Given the description of an element on the screen output the (x, y) to click on. 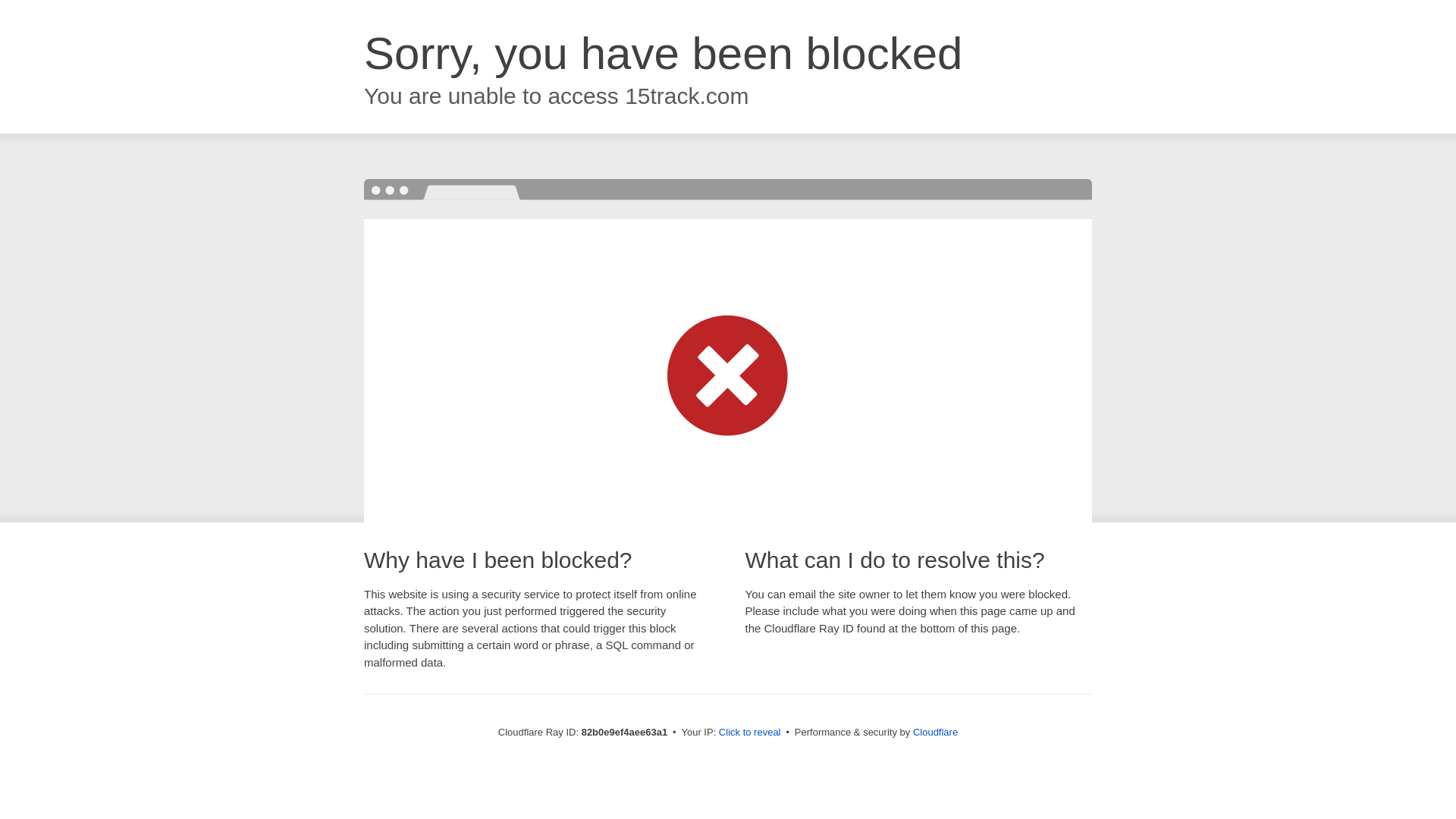
Cloudflare Element type: text (935, 731)
Click to reveal Element type: text (749, 732)
